Given the description of an element on the screen output the (x, y) to click on. 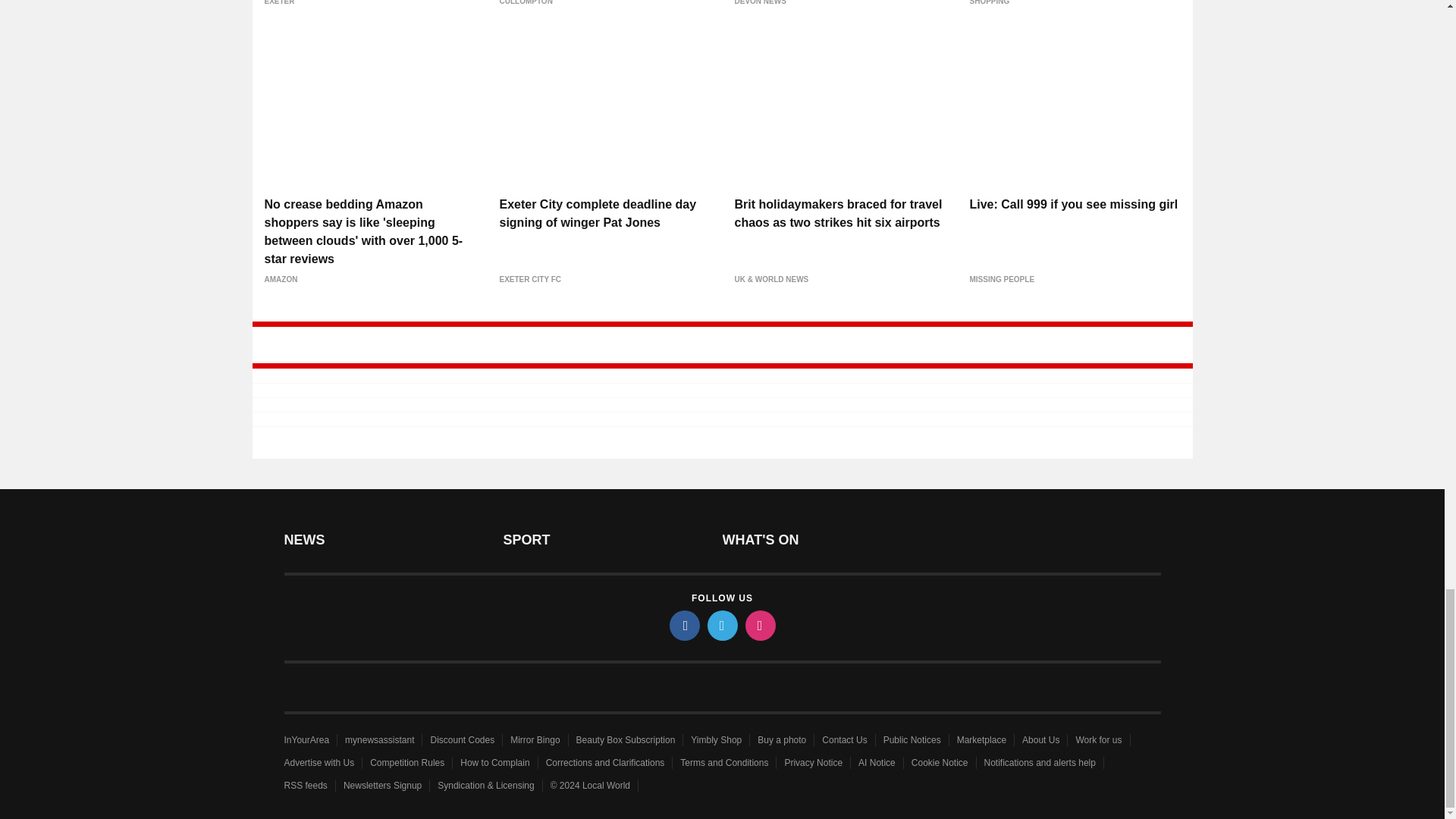
facebook (683, 625)
twitter (721, 625)
instagram (759, 625)
